Given the description of an element on the screen output the (x, y) to click on. 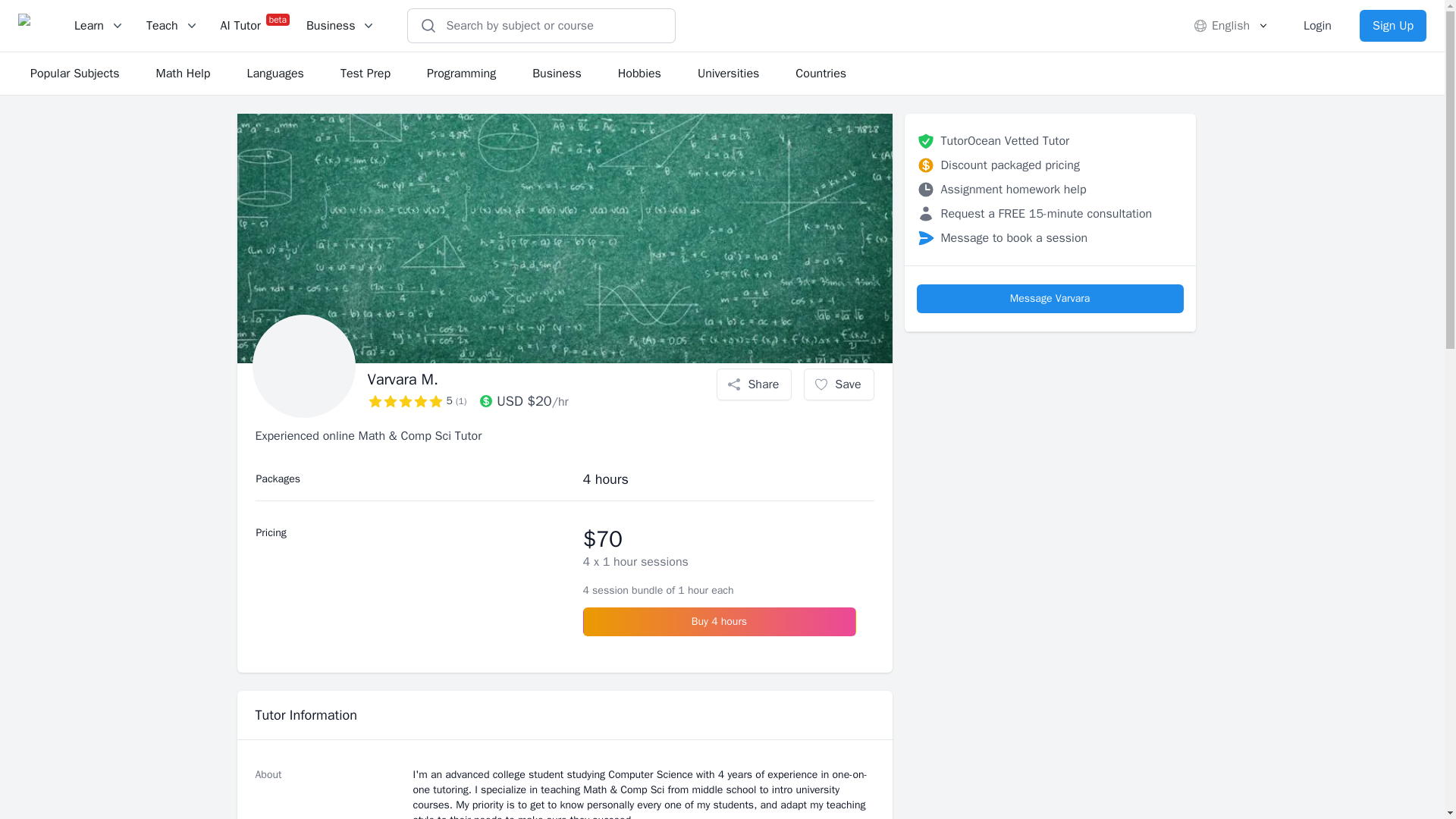
TutorOcean (29, 25)
Business (556, 73)
Popular Subjects (74, 73)
Teach (172, 25)
Share (754, 384)
Business (341, 25)
Universities (728, 73)
Message Varvara (1048, 298)
Test Prep (365, 73)
Login (1316, 25)
